Given the description of an element on the screen output the (x, y) to click on. 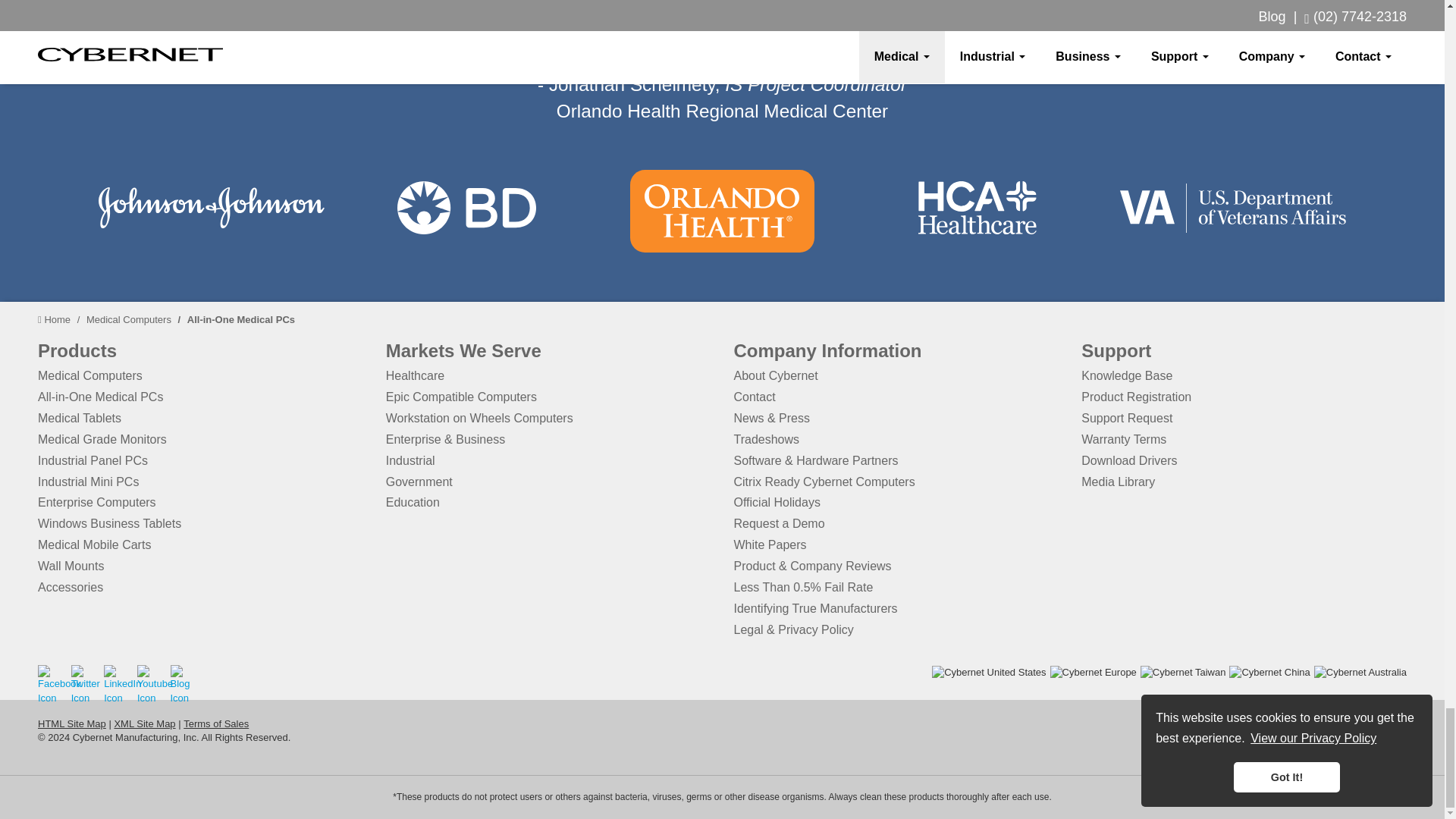
Cybernet Australia (1360, 672)
